Given the description of an element on the screen output the (x, y) to click on. 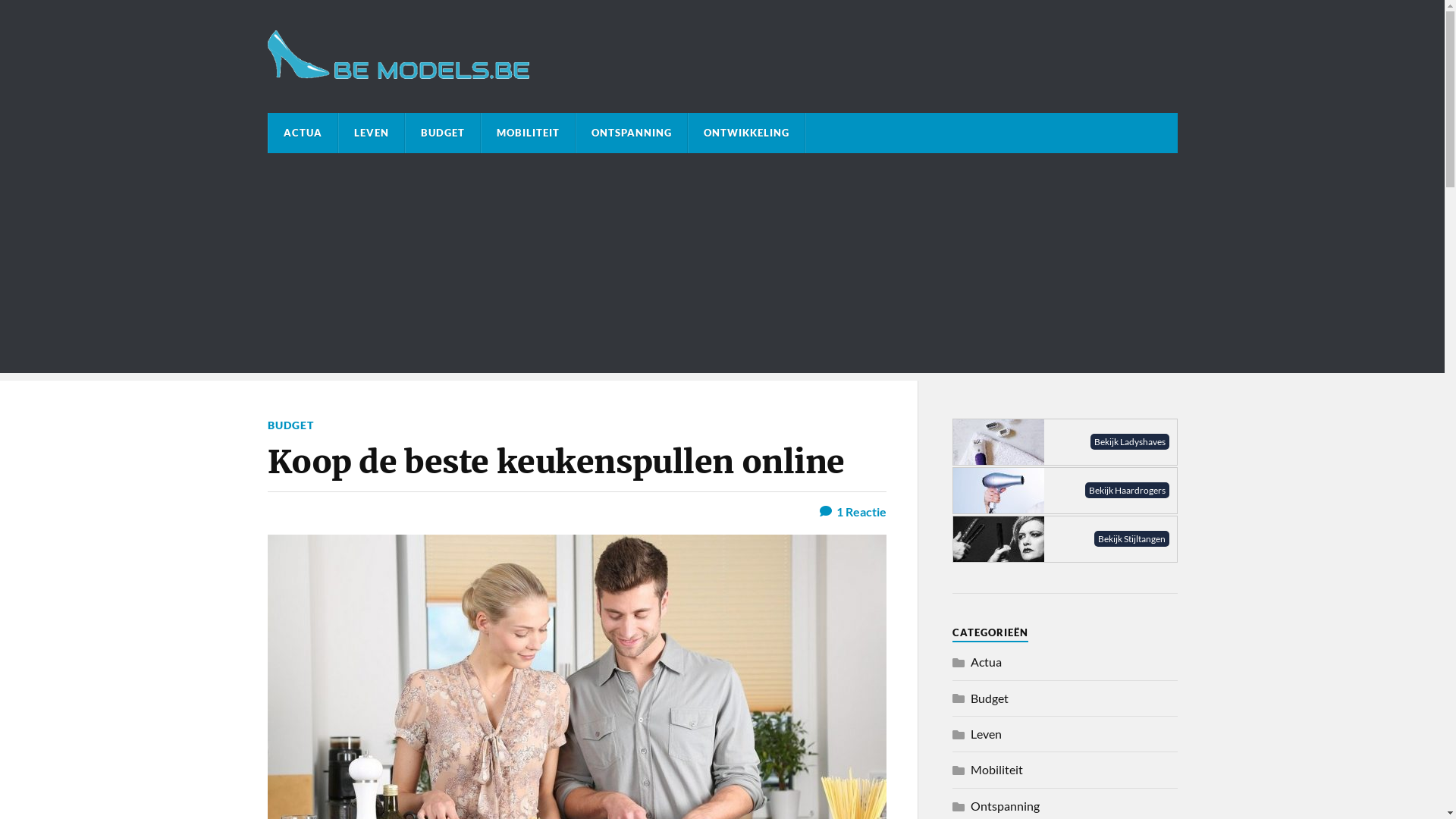
ONTSPANNING Element type: text (631, 132)
Budget Element type: text (989, 697)
Actua Element type: text (985, 661)
BUDGET Element type: text (289, 424)
MOBILITEIT Element type: text (527, 132)
Leven Element type: text (985, 733)
BUDGET Element type: text (441, 132)
Bekijk Ladyshaves Element type: text (1064, 441)
LEVEN Element type: text (370, 132)
1 Reactie Element type: text (852, 511)
ACTUA Element type: text (302, 132)
Mobiliteit Element type: text (996, 769)
Bekijk Stijltangen Element type: text (1064, 538)
Bekijk Haardrogers Element type: text (1064, 490)
Ontspanning Element type: text (1004, 805)
Advertisement Element type: hover (721, 266)
ONTWIKKELING Element type: text (746, 132)
